Given the description of an element on the screen output the (x, y) to click on. 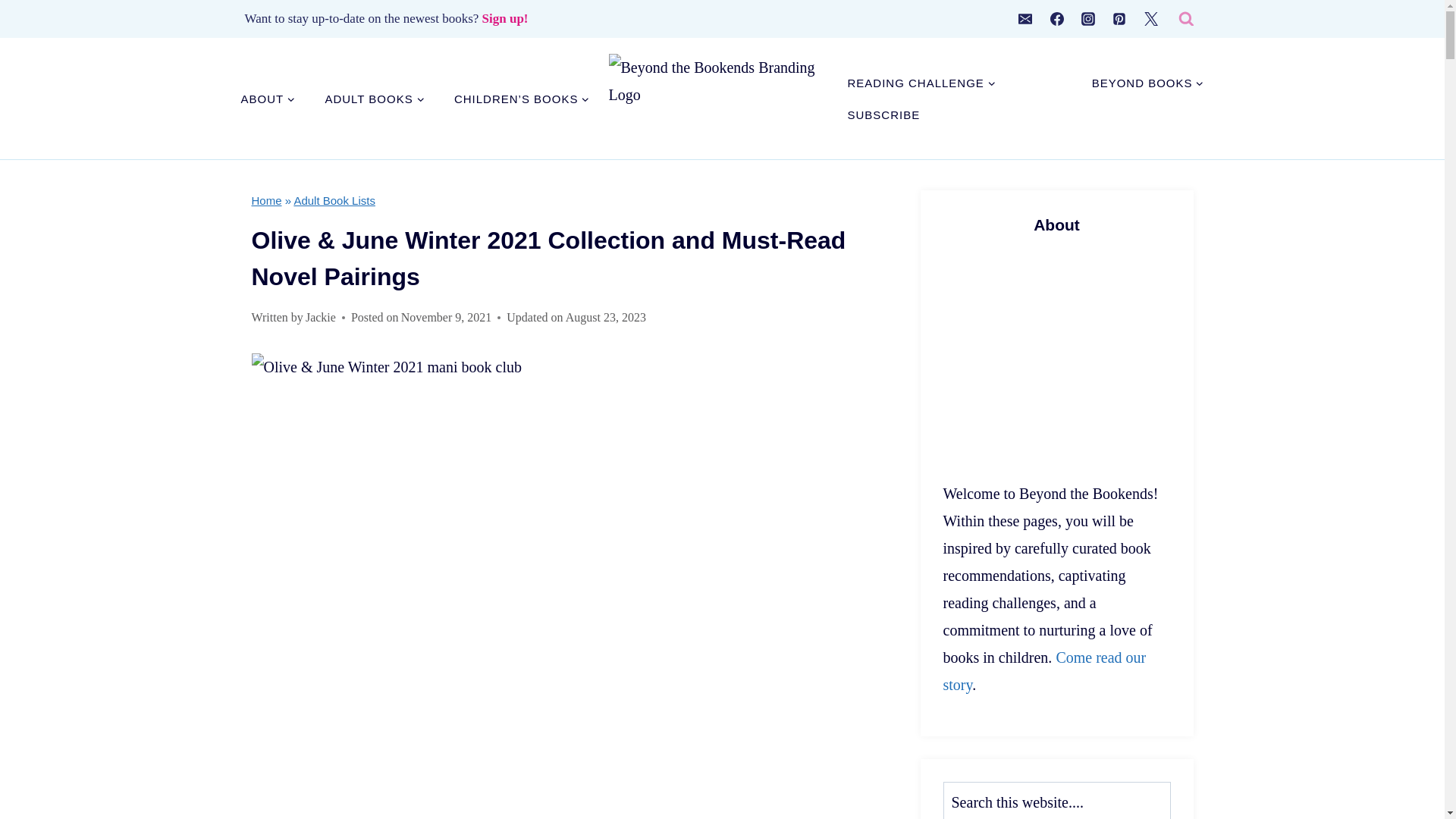
ADULT BOOKS (373, 98)
ABOUT (267, 98)
Sign up! (504, 18)
